Given the description of an element on the screen output the (x, y) to click on. 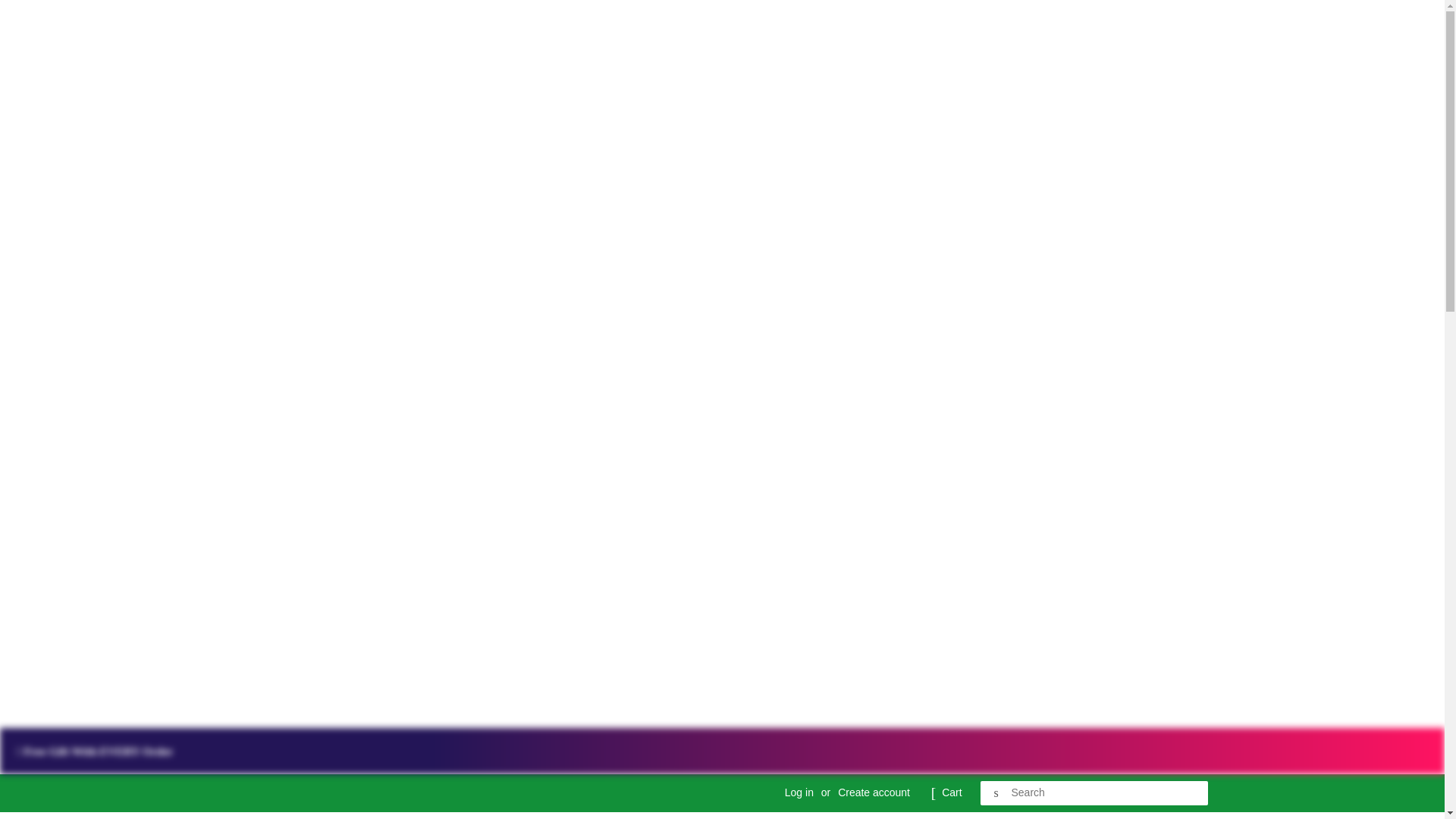
Log in (798, 792)
Create account (874, 792)
Cart (951, 792)
Search (995, 793)
